Given the description of an element on the screen output the (x, y) to click on. 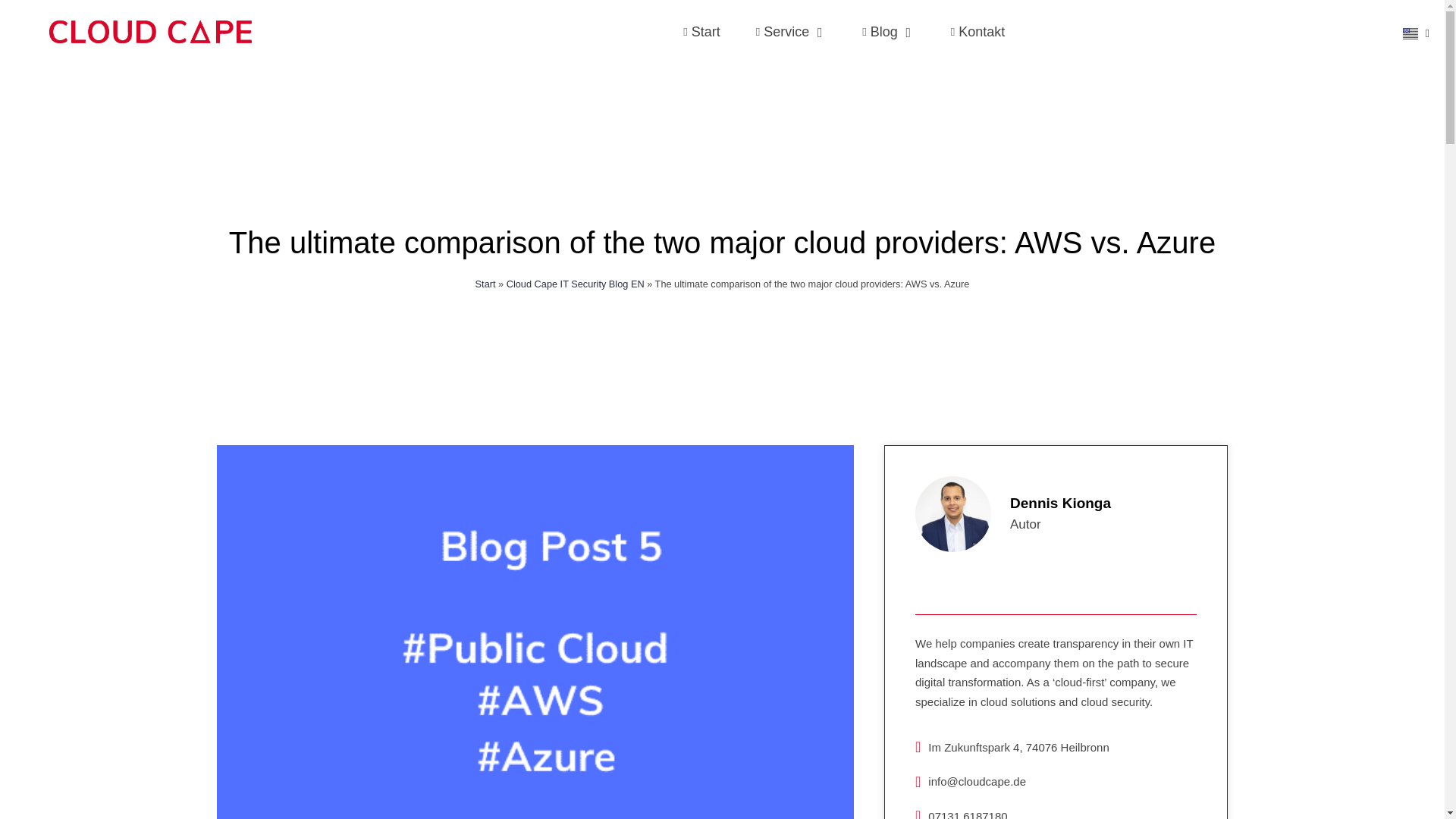
Cloud Cape IT Security Blog EN (575, 283)
Start (486, 283)
Kontakt (978, 32)
Start (701, 32)
Im Zukunftspark 4, 74076 Heilbronn (1055, 747)
07131 6187180 (1055, 812)
Im Zukunftspark 4, 74076 Heilbronn (844, 32)
